Given the description of an element on the screen output the (x, y) to click on. 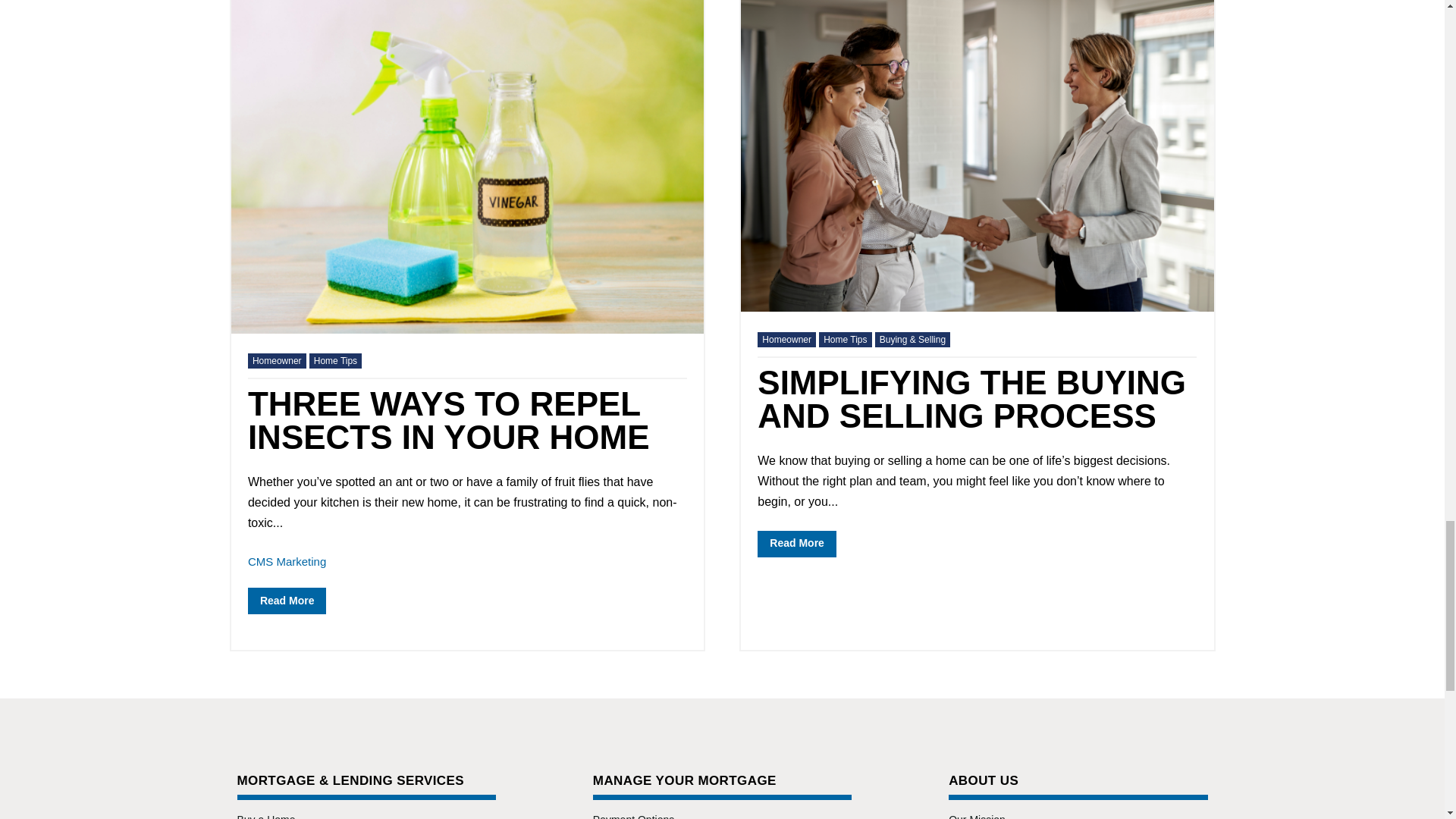
CMS Marketing (286, 561)
Homeowner (276, 360)
Read More (796, 543)
SIMPLIFYING THE BUYING AND SELLING PROCESS (971, 398)
THREE WAYS TO REPEL INSECTS IN YOUR HOME (448, 419)
Read More (286, 601)
Homeowner (786, 339)
Home Tips (334, 360)
Home Tips (844, 339)
Buy a Home (265, 816)
